Given the description of an element on the screen output the (x, y) to click on. 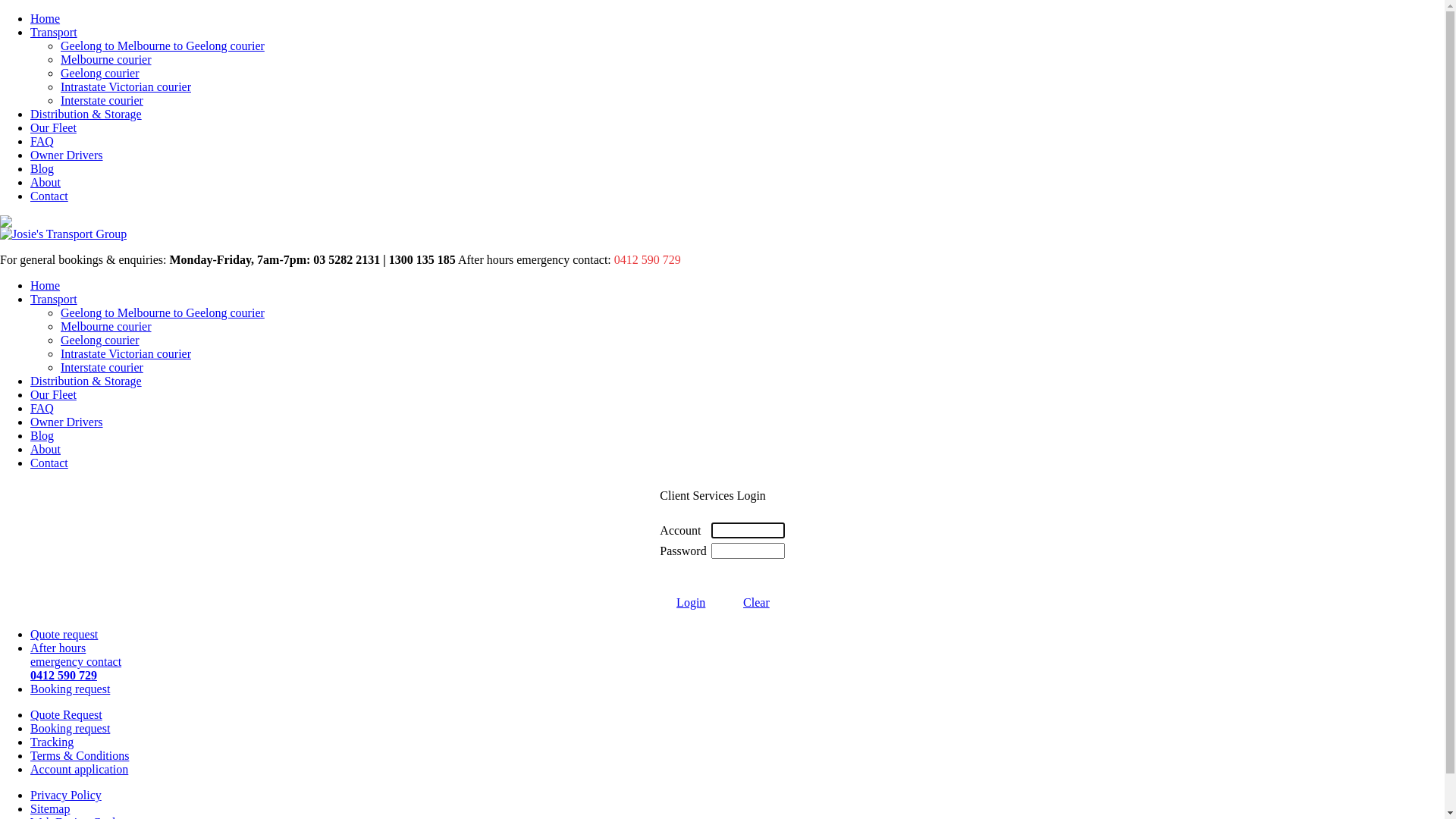
Sitemap Element type: text (49, 808)
Account application Element type: text (737, 769)
Geelong courier Element type: text (99, 72)
Home Element type: text (737, 18)
Contact Element type: text (49, 195)
Clear Element type: text (756, 602)
About Element type: text (737, 182)
Booking request Element type: text (737, 728)
Tracking Element type: text (51, 741)
Geelong courier Element type: text (752, 73)
Transport Element type: text (53, 298)
About Element type: text (45, 181)
Booking request Element type: text (69, 727)
Quote Request Element type: text (737, 714)
FAQ Element type: text (41, 140)
Our Fleet Element type: text (53, 127)
Melbourne courier Element type: text (105, 59)
Owner Drivers Element type: text (66, 154)
Blog Element type: text (737, 168)
FAQ Element type: text (41, 407)
Login Element type: text (690, 602)
Our Fleet Element type: text (53, 394)
Geelong to Melbourne to Geelong courier Element type: text (752, 46)
Contact Element type: text (737, 196)
Terms & Conditions Element type: text (737, 755)
Blog Element type: text (41, 168)
Melbourne courier Element type: text (752, 59)
Owner Drivers Element type: text (737, 155)
Tracking Element type: text (737, 742)
Geelong courier Element type: text (99, 339)
About Element type: text (45, 448)
Terms & Conditions Element type: text (79, 755)
Melbourne courier Element type: text (105, 326)
Quote request Element type: text (63, 633)
Intrastate Victorian courier Element type: text (125, 86)
Interstate courier Element type: text (101, 100)
Distribution & Storage Element type: text (85, 380)
Intrastate Victorian courier Element type: text (125, 353)
Home Element type: text (44, 285)
Account application Element type: text (79, 768)
Blog Element type: text (41, 435)
After hours
emergency contact
0412 590 729 Element type: text (75, 661)
Home Element type: text (44, 18)
Owner Drivers Element type: text (66, 421)
Our Fleet Element type: text (737, 127)
Privacy Policy Element type: text (65, 794)
Quote Request Element type: text (66, 714)
Distribution & Storage Element type: text (737, 114)
Transport Element type: text (53, 31)
FAQ Element type: text (737, 141)
Booking request Element type: text (69, 688)
Geelong to Melbourne to Geelong courier Element type: text (162, 312)
Contact Element type: text (49, 462)
Intrastate Victorian courier Element type: text (752, 87)
Interstate courier Element type: text (101, 366)
Geelong to Melbourne to Geelong courier Element type: text (162, 45)
Interstate courier Element type: text (752, 100)
Distribution & Storage Element type: text (85, 113)
